Given the description of an element on the screen output the (x, y) to click on. 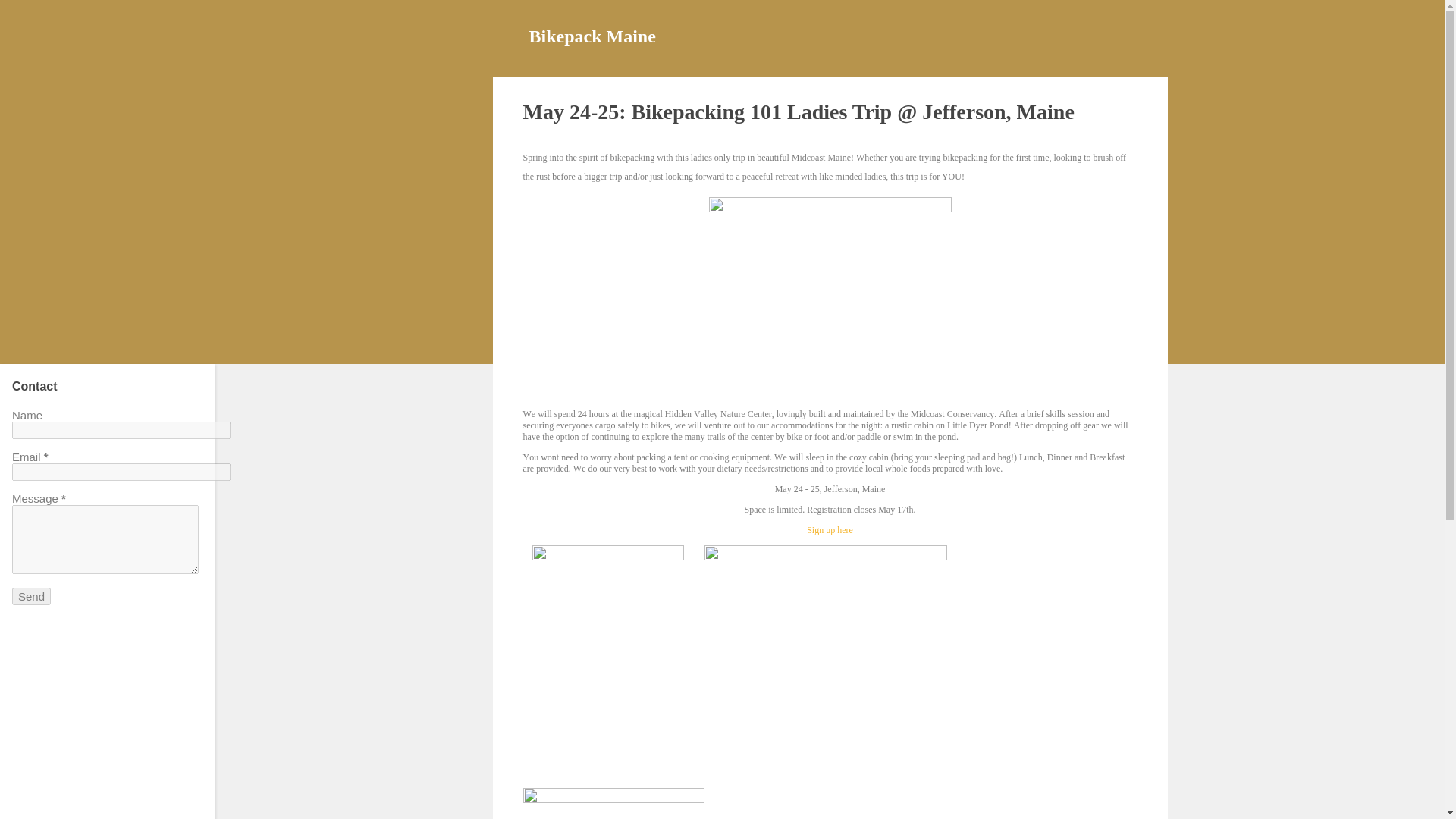
Sign up here (829, 529)
Search (29, 18)
Bikepack Maine (592, 35)
Send (30, 596)
